Given the description of an element on the screen output the (x, y) to click on. 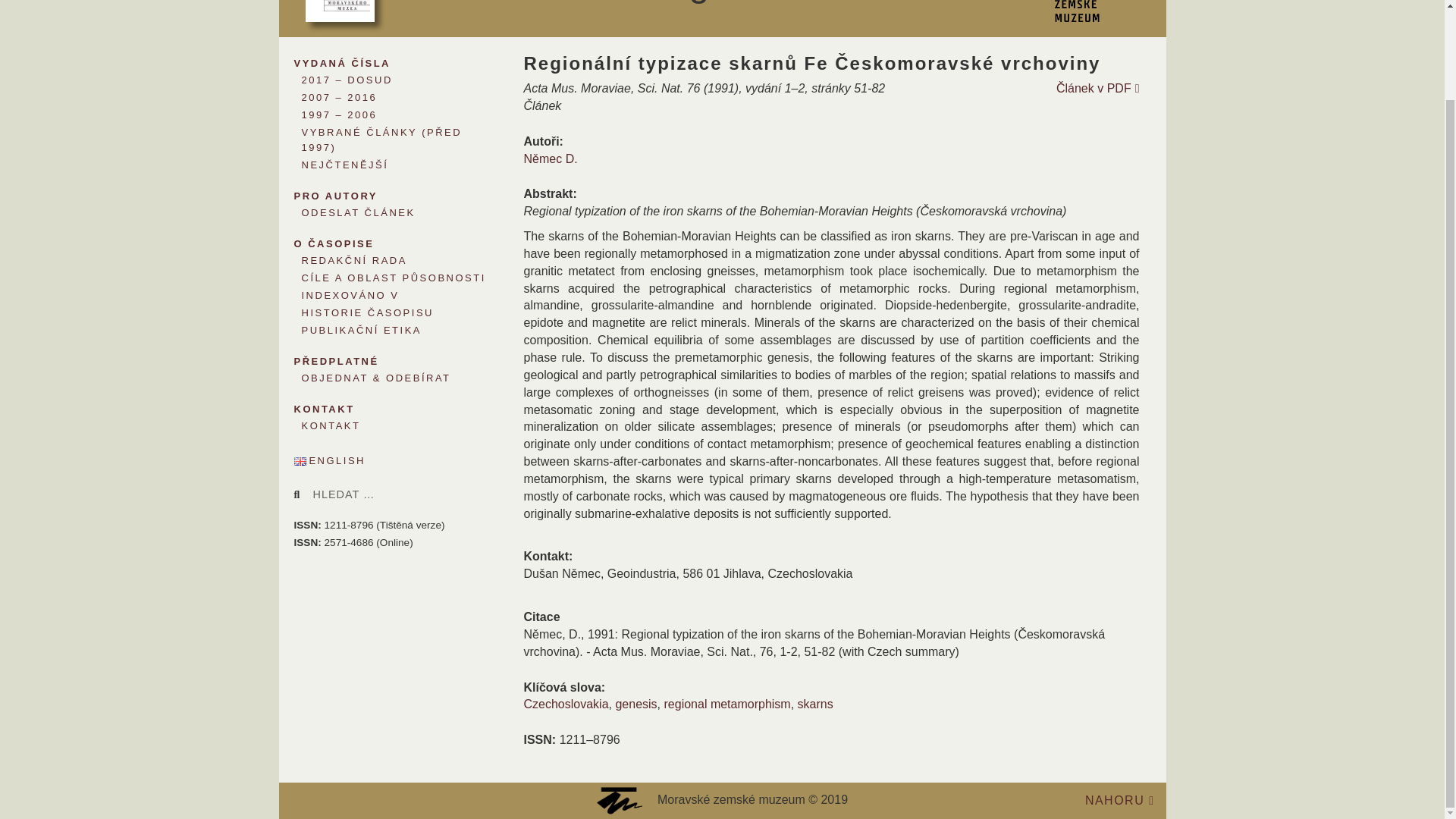
KONTAKT (384, 407)
Czechoslovakia (565, 703)
skarns (814, 703)
NAHORU (1119, 799)
genesis (635, 703)
PRO AUTORY (384, 194)
ENGLISH (395, 460)
regional metamorphism (726, 703)
KONTAKT (384, 425)
